Given the description of an element on the screen output the (x, y) to click on. 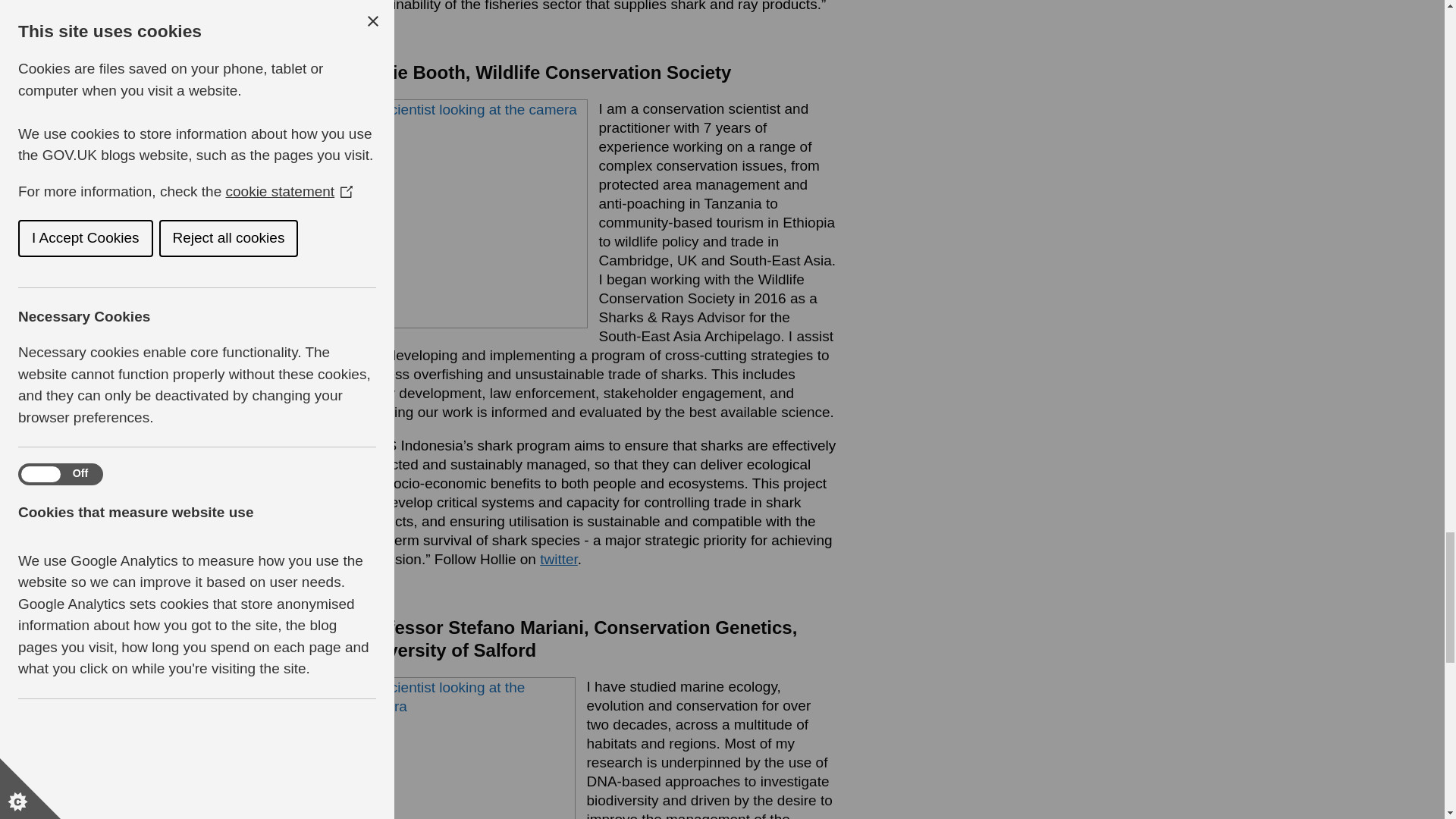
twitter (559, 559)
